Given the description of an element on the screen output the (x, y) to click on. 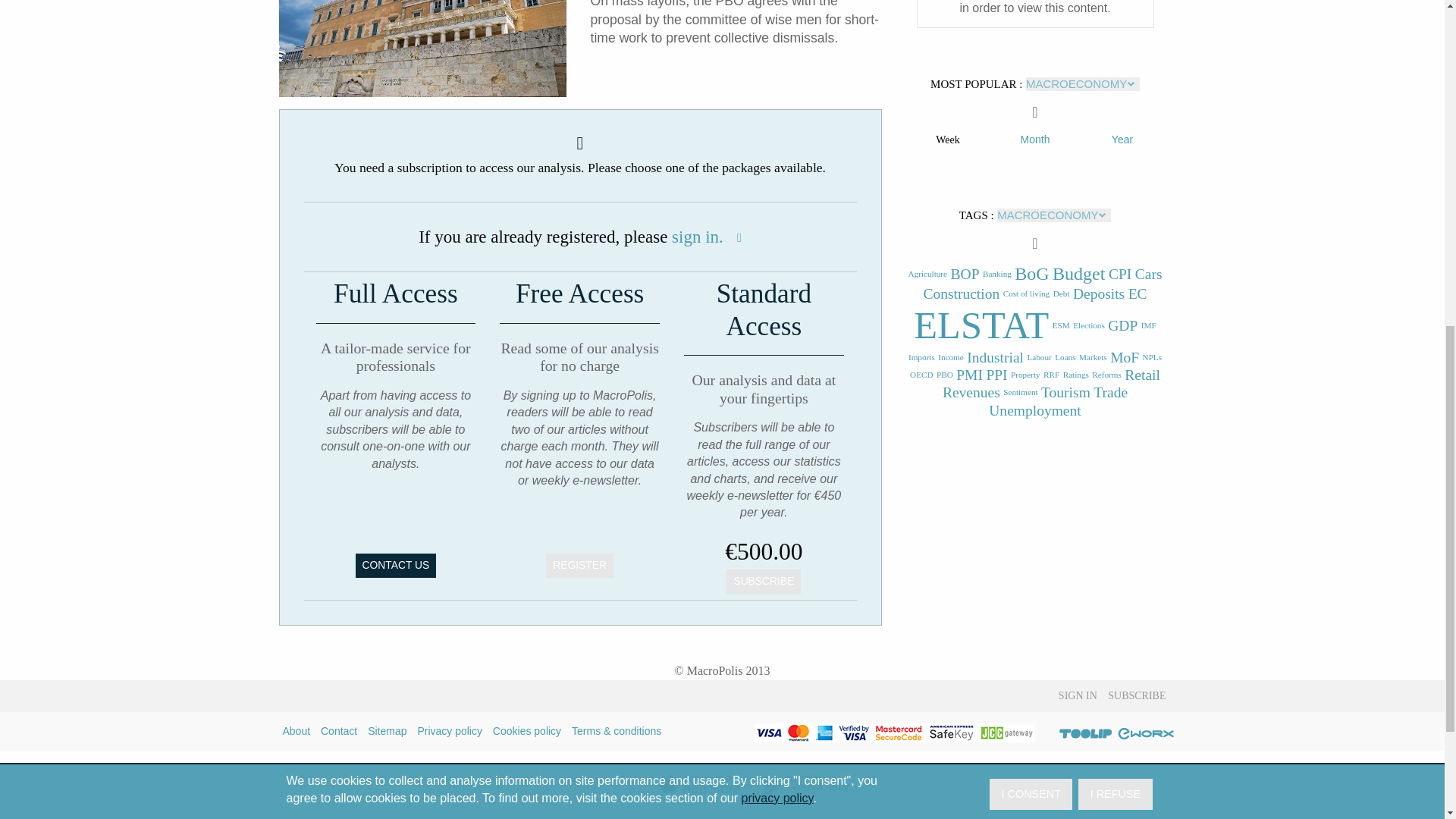
I consent (1030, 158)
Register (579, 565)
Subscribe (763, 581)
I refuse (1114, 158)
